Given the description of an element on the screen output the (x, y) to click on. 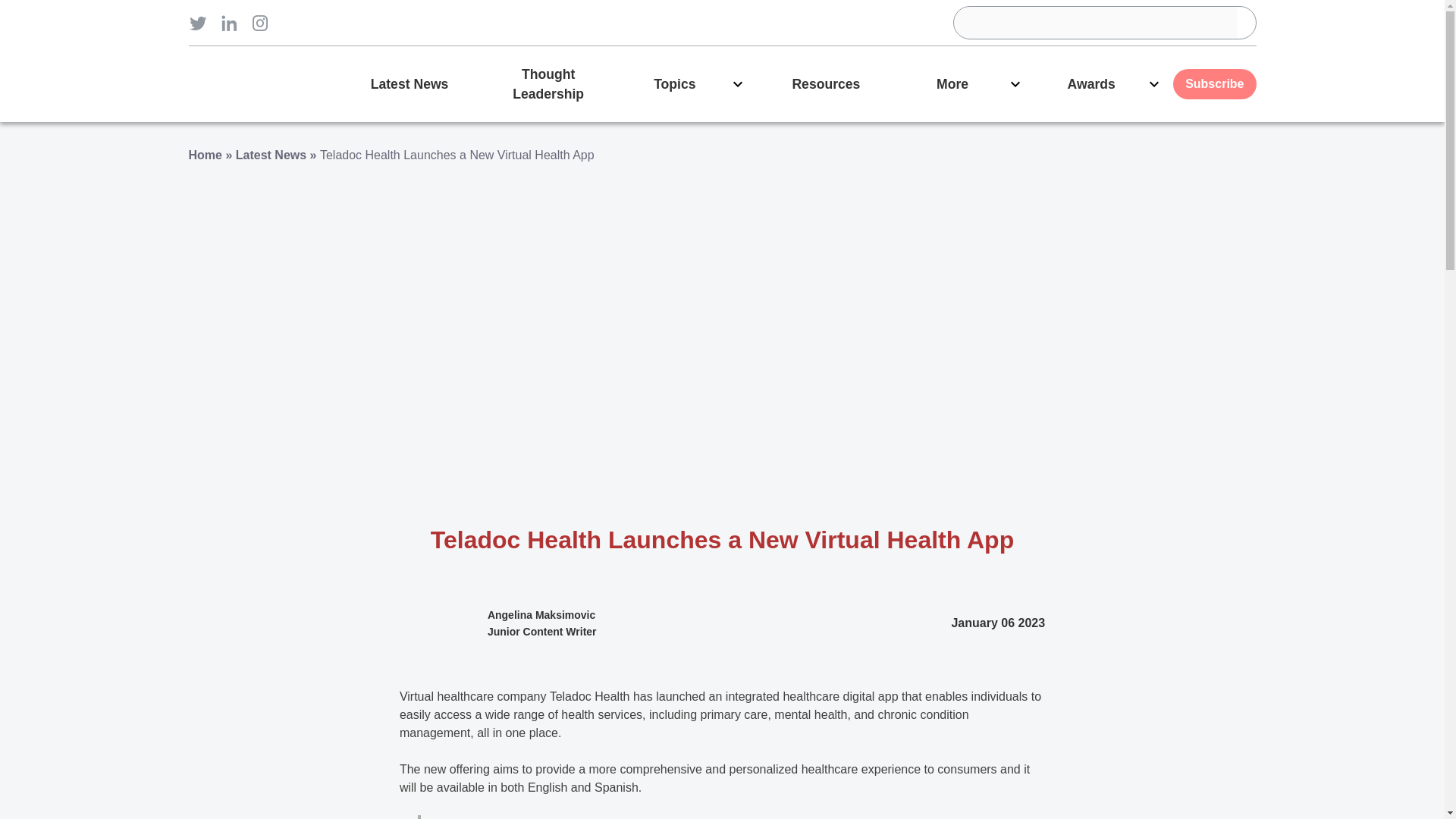
Latest News (409, 83)
Awards (1103, 83)
Resources (826, 83)
Home (204, 154)
Topics (687, 83)
Thought Leadership (548, 83)
Latest News (270, 154)
Subscribe (1214, 83)
January 06 2023 (997, 623)
Angelina Maksimovic (541, 614)
